Given the description of an element on the screen output the (x, y) to click on. 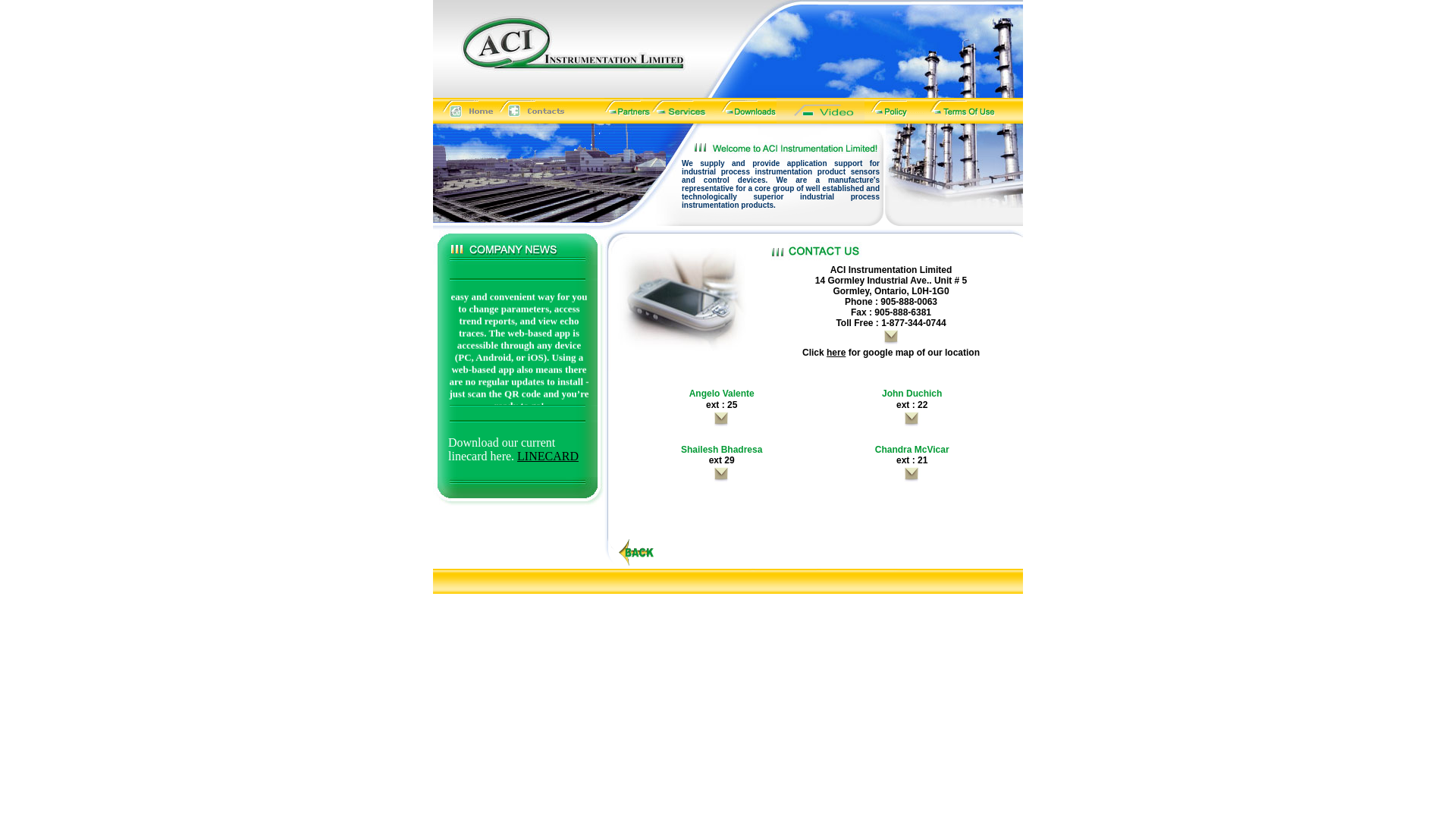
LINECARD Element type: text (547, 455)
here Element type: text (835, 352)
Our Contact Information Element type: hover (531, 109)
Manufacturers' Download Center Element type: hover (745, 109)
Our Product Manufacturers Element type: hover (625, 109)
Manufacturers's Video Center Element type: hover (820, 109)
